Given the description of an element on the screen output the (x, y) to click on. 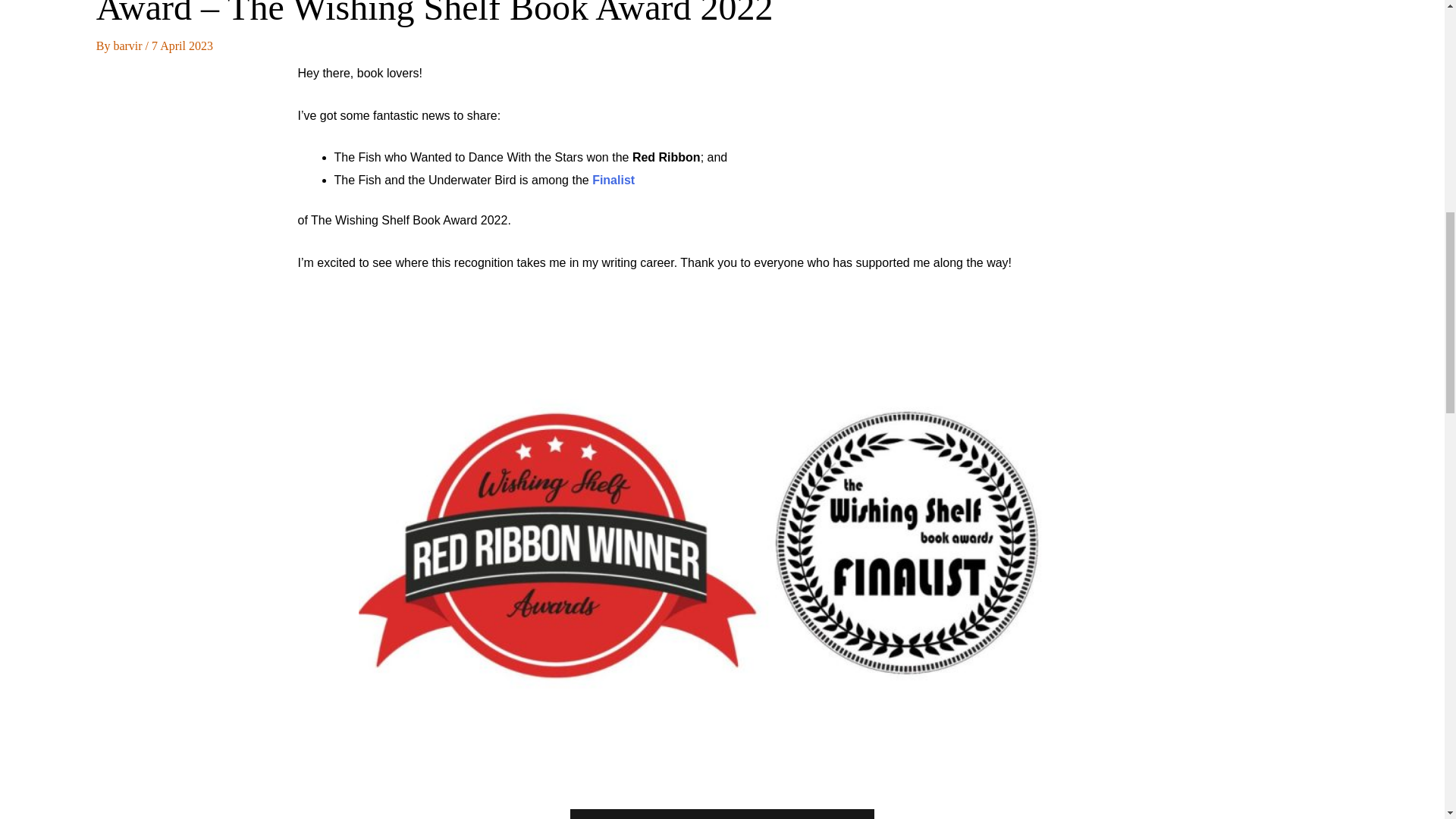
View all posts by barvir (128, 45)
barvir (128, 45)
Finalist (613, 179)
THE BOOKS ARE AVAILABLE ON AMAZON (722, 814)
